Given the description of an element on the screen output the (x, y) to click on. 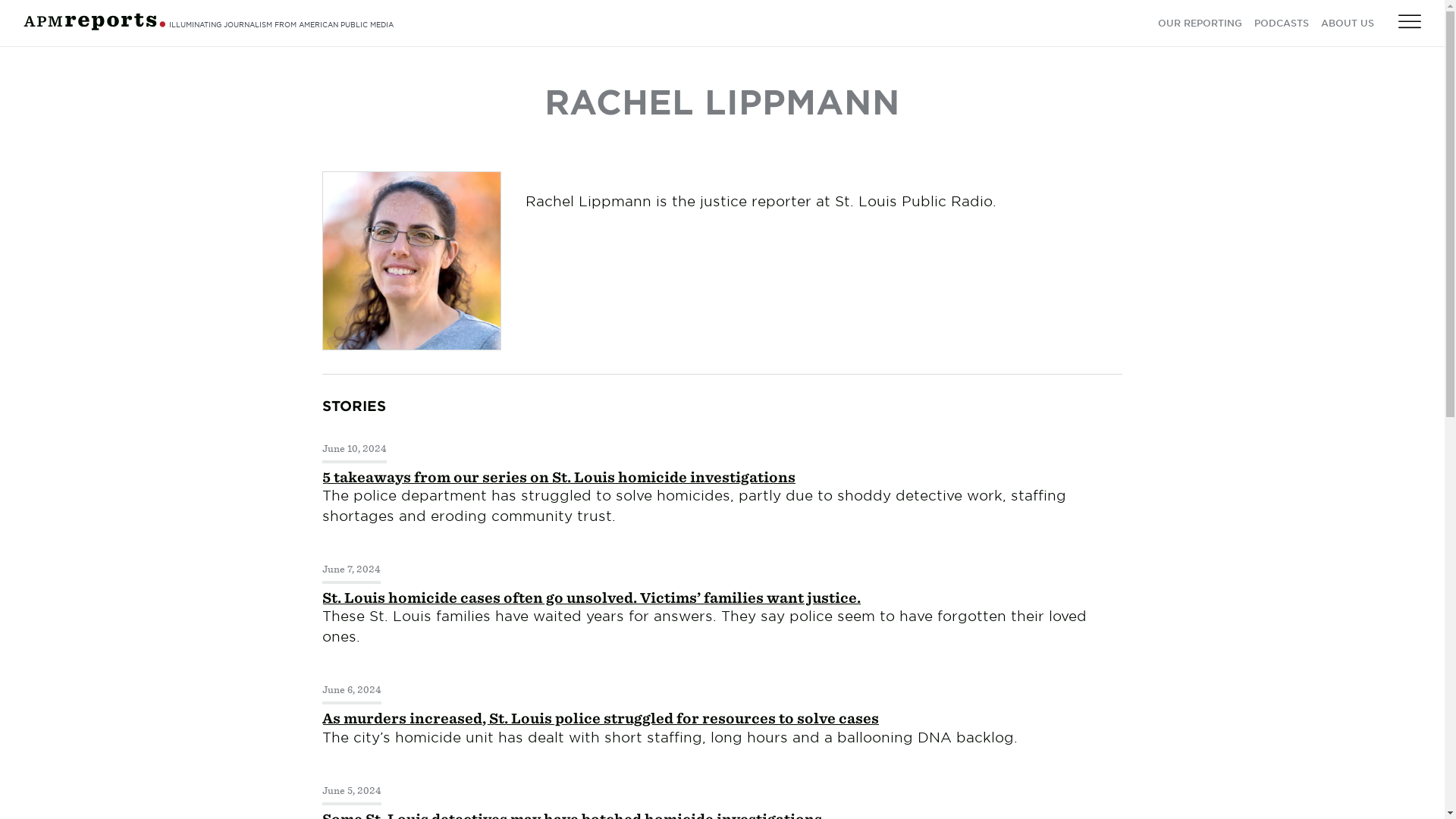
ABOUT US (1347, 23)
APM Reports (94, 27)
OUR REPORTING (1199, 23)
PODCASTS (1280, 23)
APM Reports (94, 20)
